Given the description of an element on the screen output the (x, y) to click on. 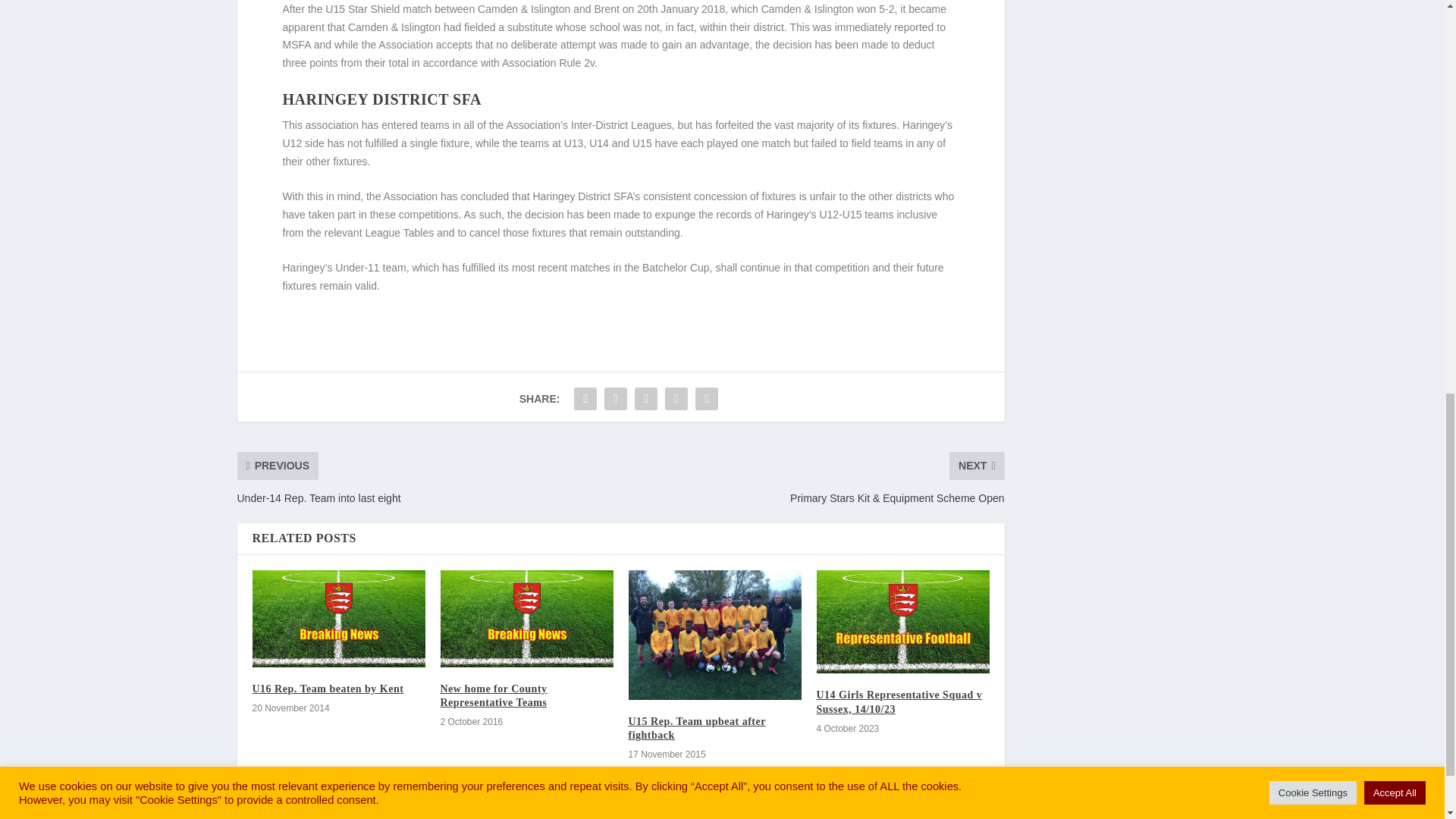
New home for County Representative Teams (525, 618)
U16 Rep. Team beaten by Kent (338, 618)
U15 Rep. Team upbeat after fightback (713, 635)
